Given the description of an element on the screen output the (x, y) to click on. 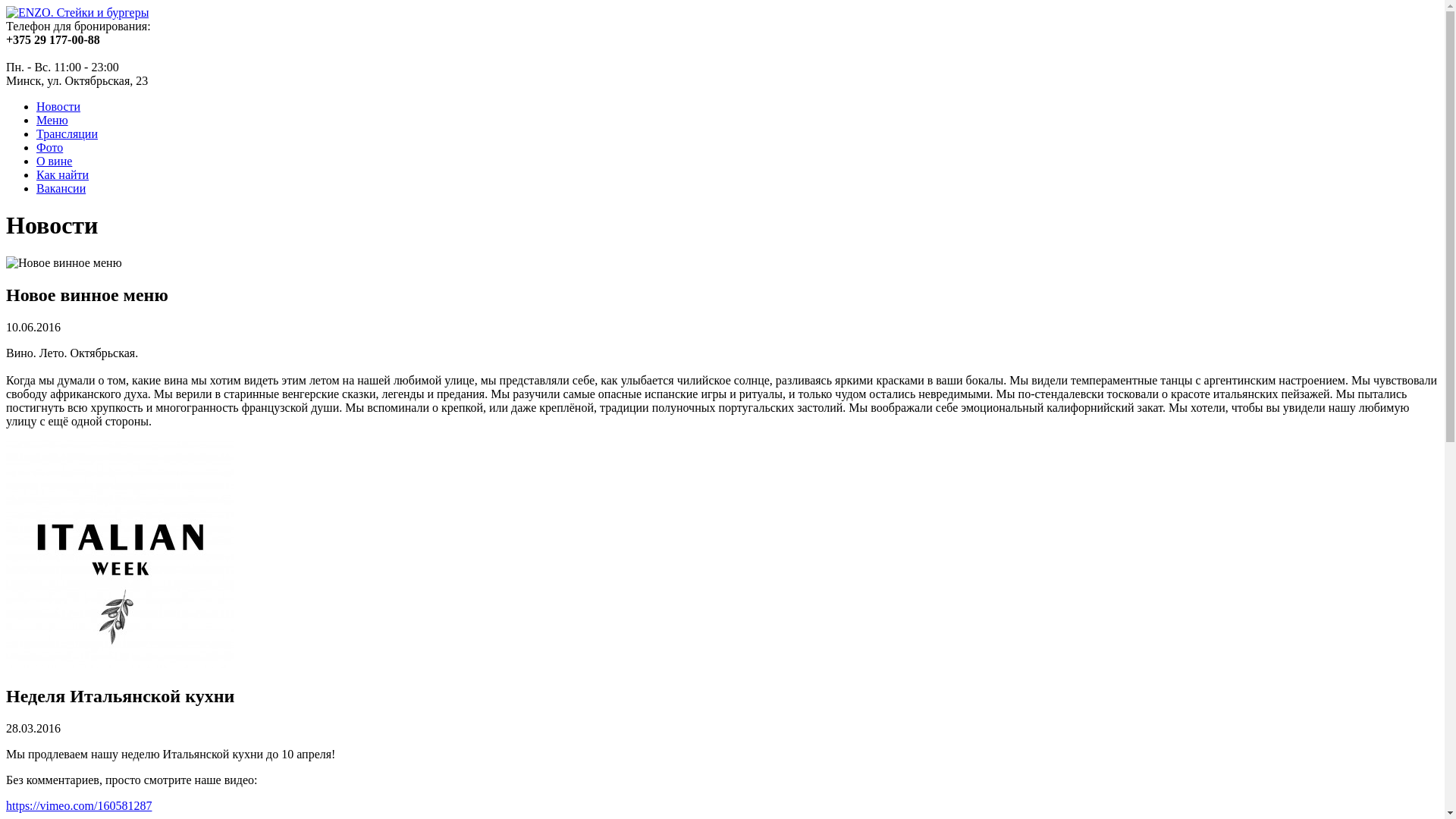
https://vimeo.com/160581287 Element type: text (78, 805)
